Given the description of an element on the screen output the (x, y) to click on. 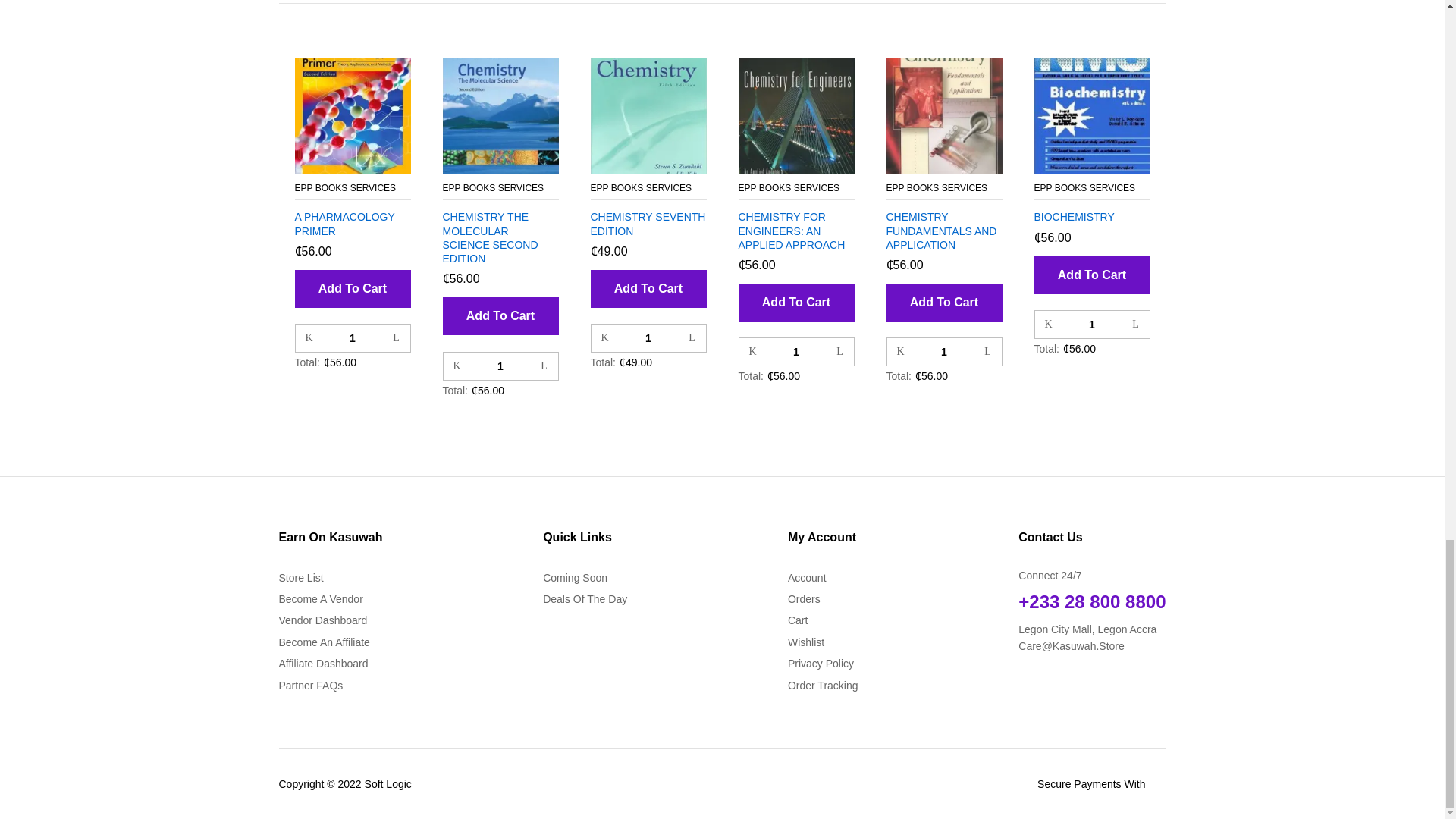
1 (352, 338)
1 (499, 366)
1 (943, 351)
1 (1090, 324)
1 (795, 351)
1 (648, 338)
